Given the description of an element on the screen output the (x, y) to click on. 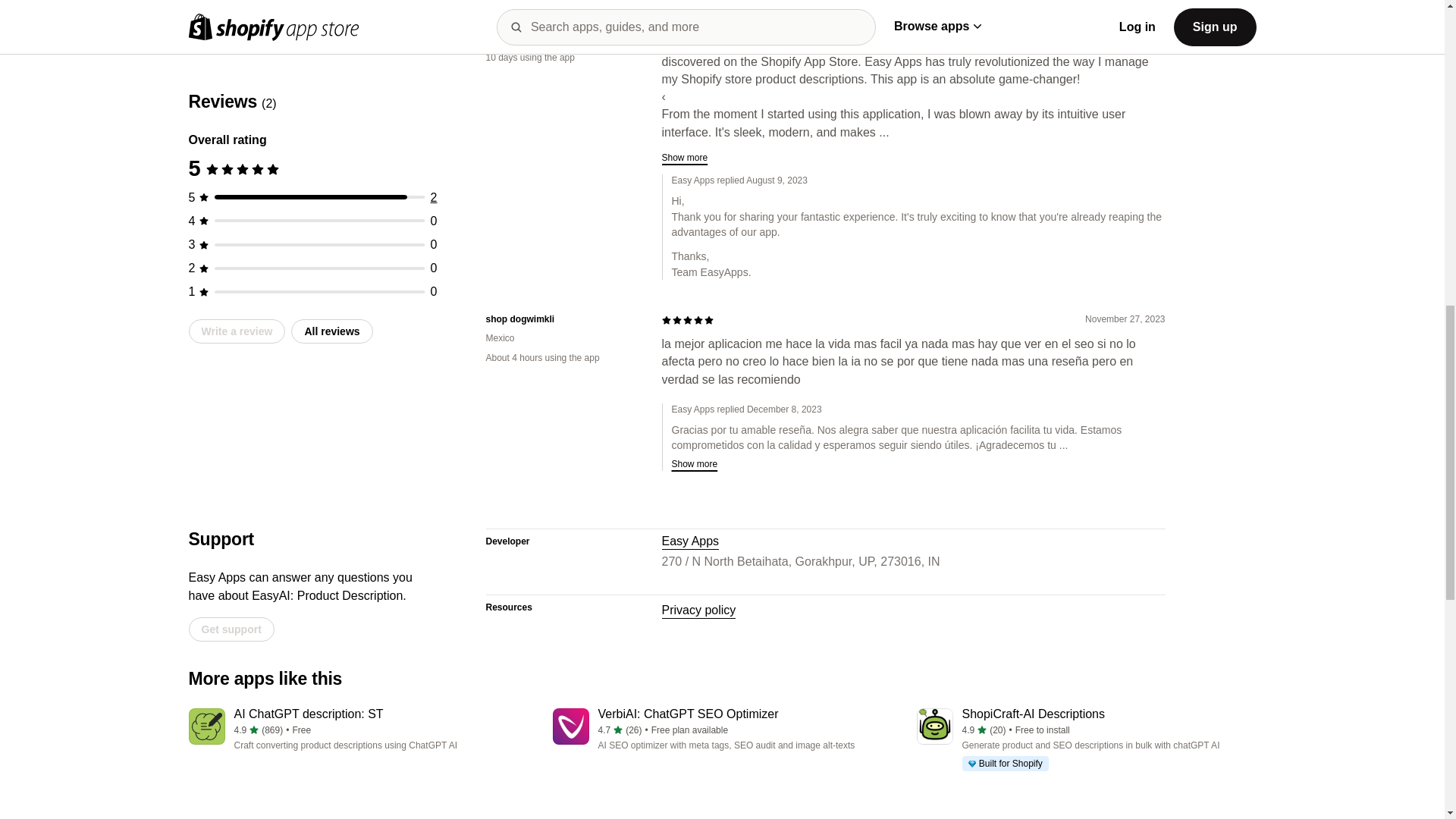
Philadelphia Isotopes (560, 19)
shop dogwimkli (560, 318)
